Given the description of an element on the screen output the (x, y) to click on. 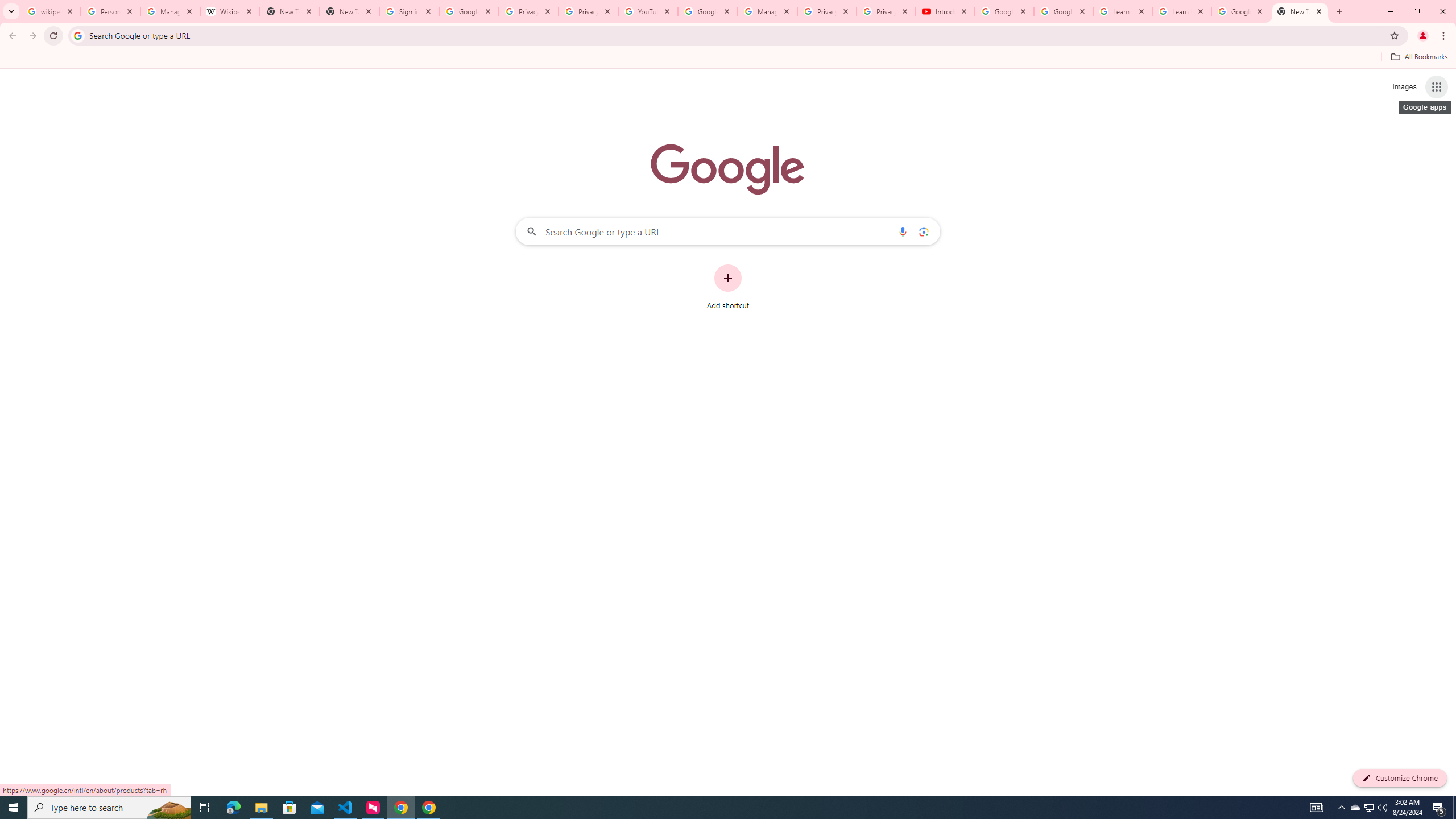
Sign in - Google Accounts (409, 11)
Add shortcut (727, 287)
Customize Chrome (1399, 778)
Google Account (1241, 11)
Bookmarks (728, 58)
Personalization & Google Search results - Google Search Help (110, 11)
Search for Images  (1403, 87)
Search icon (77, 35)
